Given the description of an element on the screen output the (x, y) to click on. 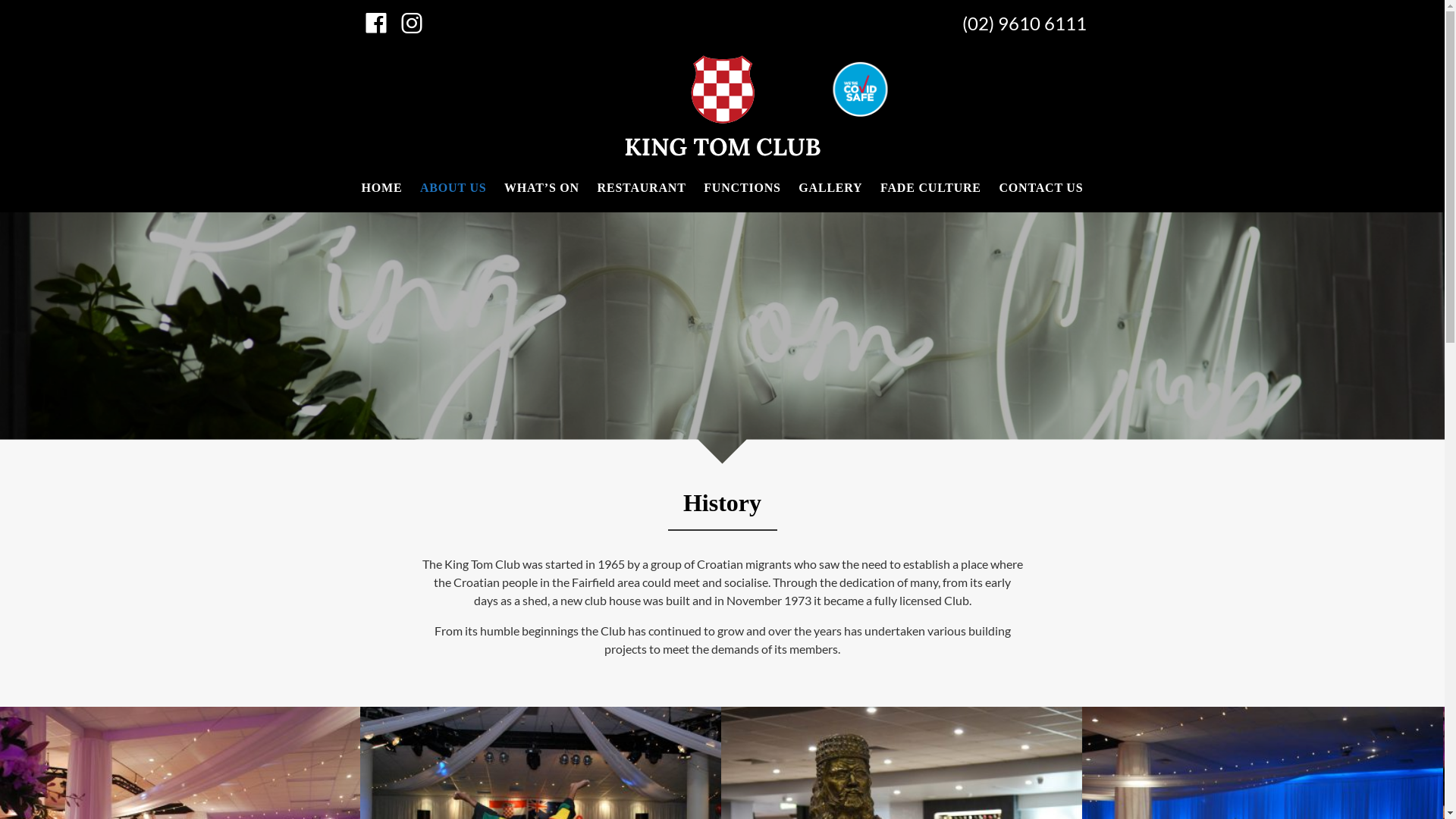
(02) 9610 6111 Element type: text (1005, 23)
CONTACT US Element type: text (1040, 187)
FADE CULTURE Element type: text (930, 187)
ABOUT US Element type: text (453, 187)
HOME Element type: text (380, 187)
RESTAURANT Element type: text (641, 187)
GALLERY Element type: text (830, 187)
FUNCTIONS Element type: text (741, 187)
